Given the description of an element on the screen output the (x, y) to click on. 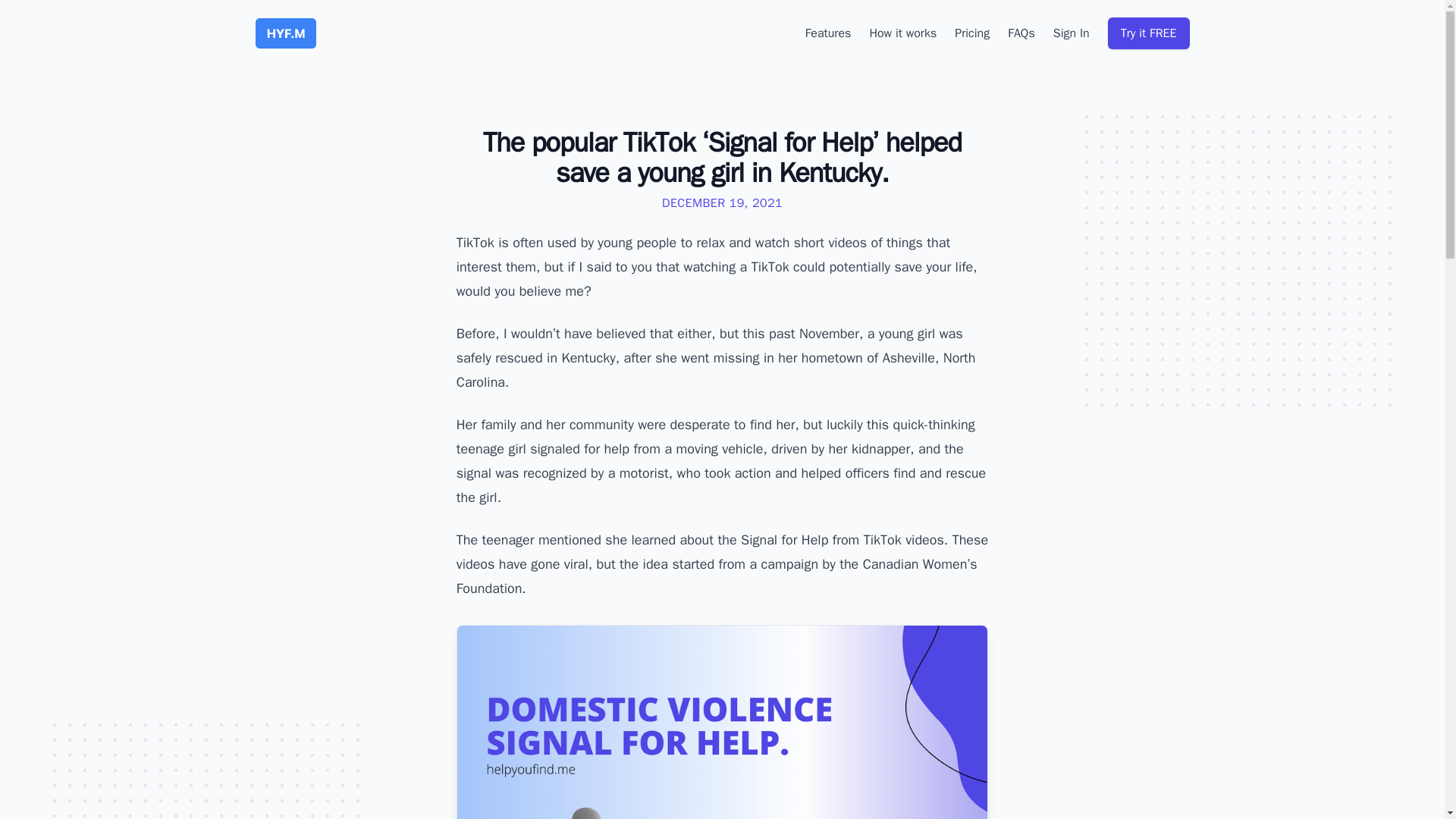
Sign In (1070, 33)
Pricing (972, 33)
Features (828, 33)
Try it FREE (1148, 33)
How it works (902, 33)
FAQs (1020, 33)
HelpYouFind.Me (284, 33)
